Given the description of an element on the screen output the (x, y) to click on. 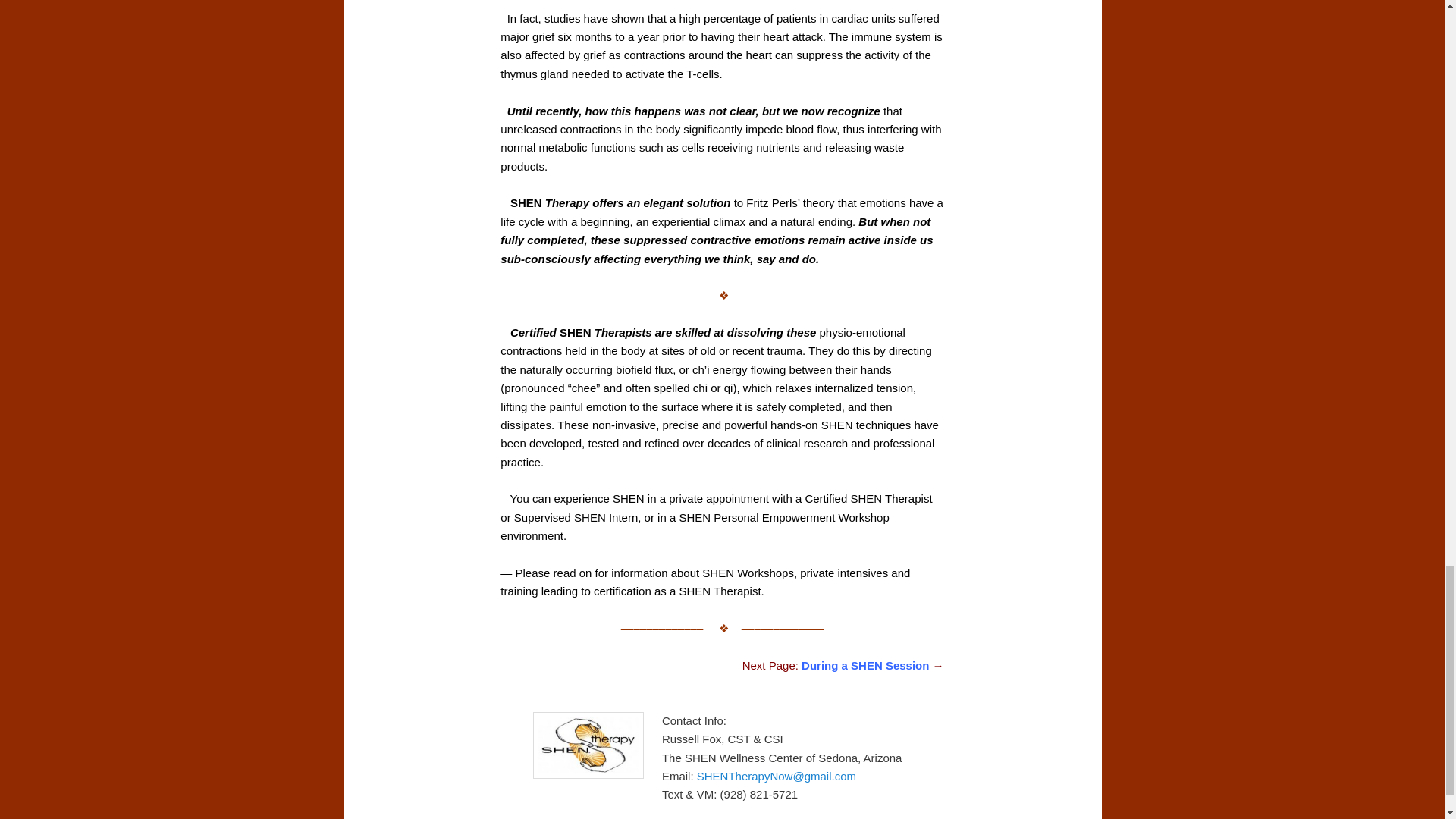
During a SHEN Session (865, 665)
During a SHEN Session (865, 665)
SHEN Logo 1 (587, 744)
